Given the description of an element on the screen output the (x, y) to click on. 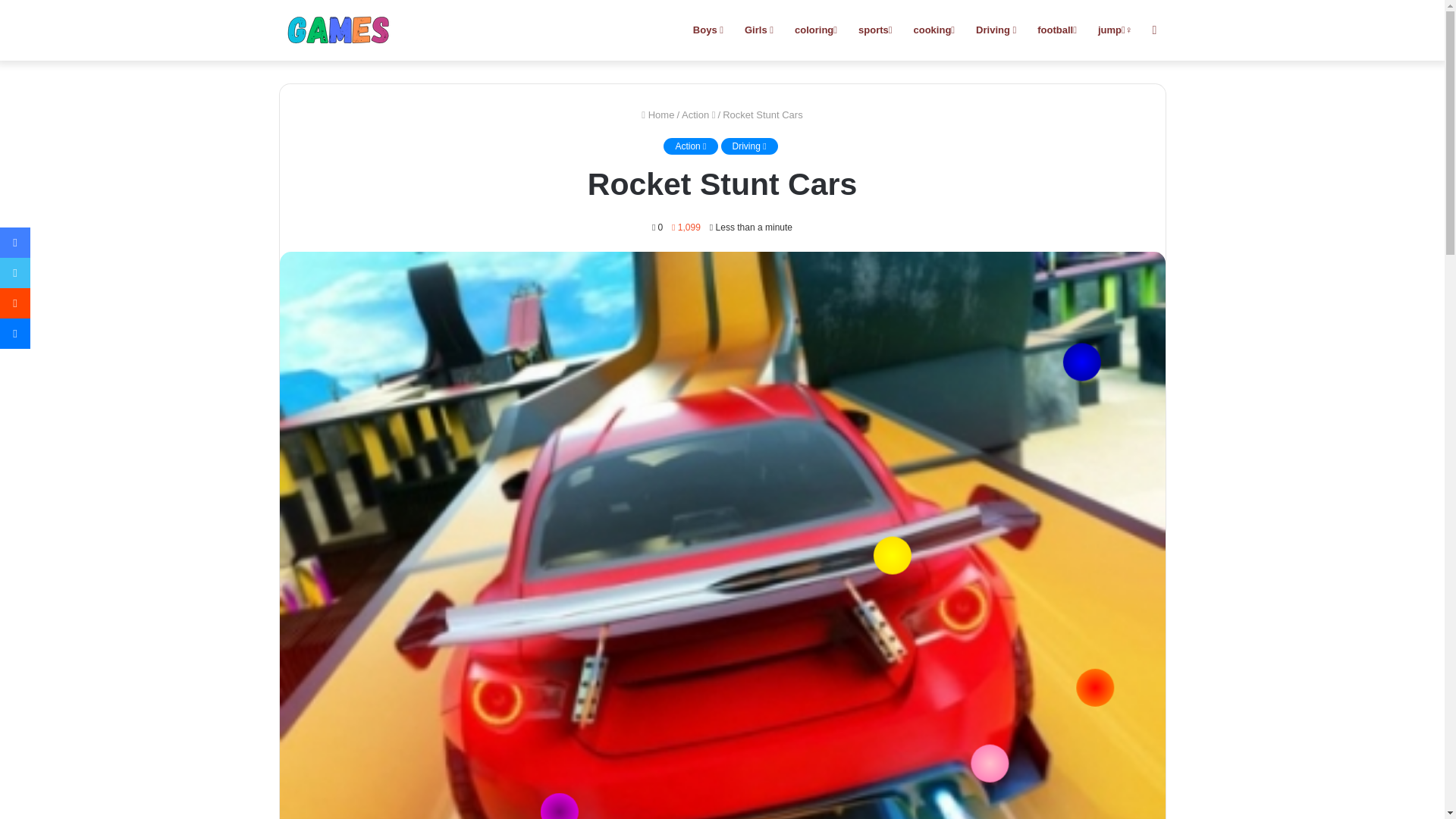
Messenger (15, 333)
Facebook (15, 242)
Twitter (15, 272)
Games online (336, 30)
Home (658, 114)
Reddit (15, 303)
